Given the description of an element on the screen output the (x, y) to click on. 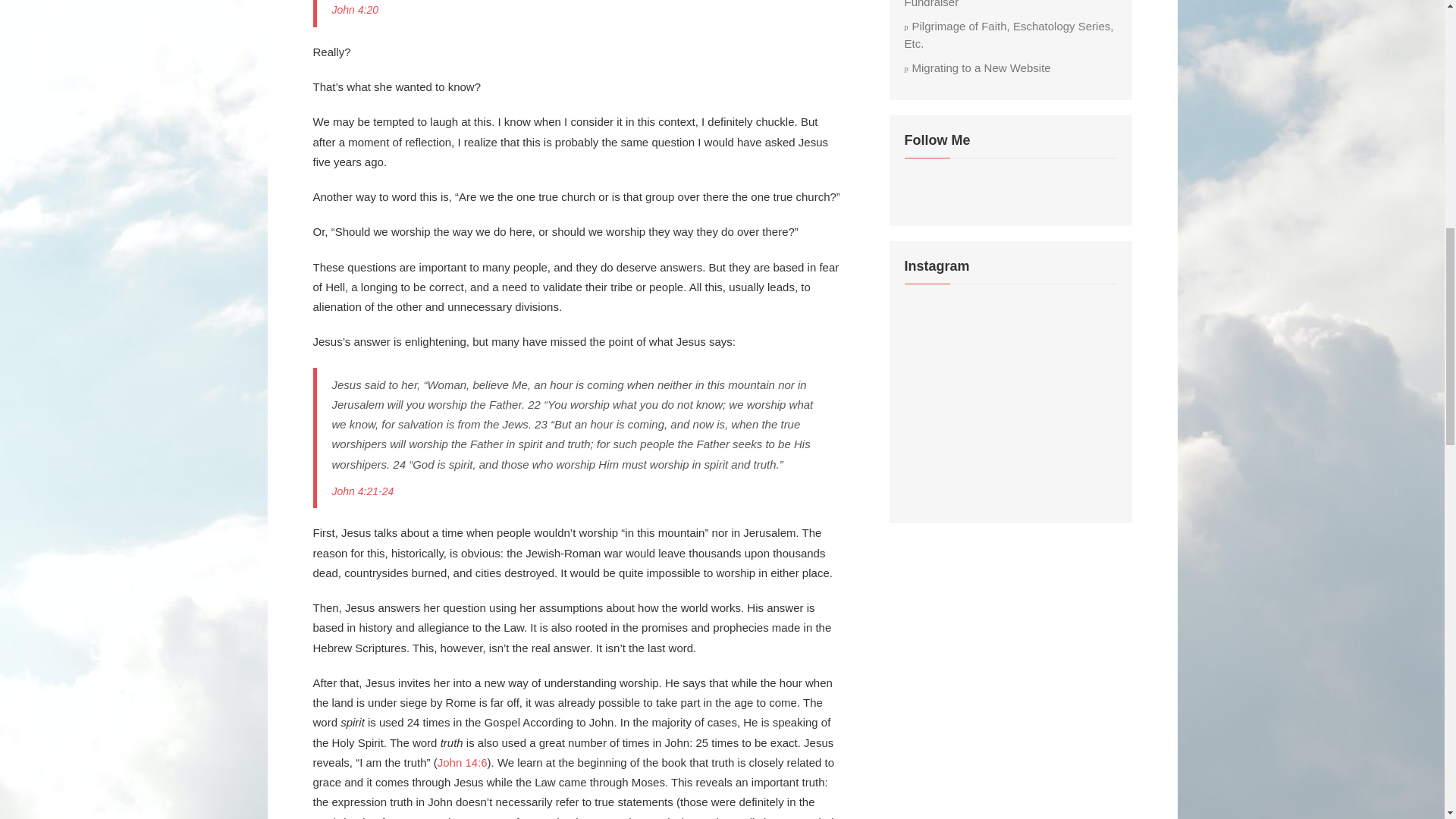
John 4:21-24 (362, 491)
John 14:6 (462, 762)
John 4:20 (354, 9)
